Given the description of an element on the screen output the (x, y) to click on. 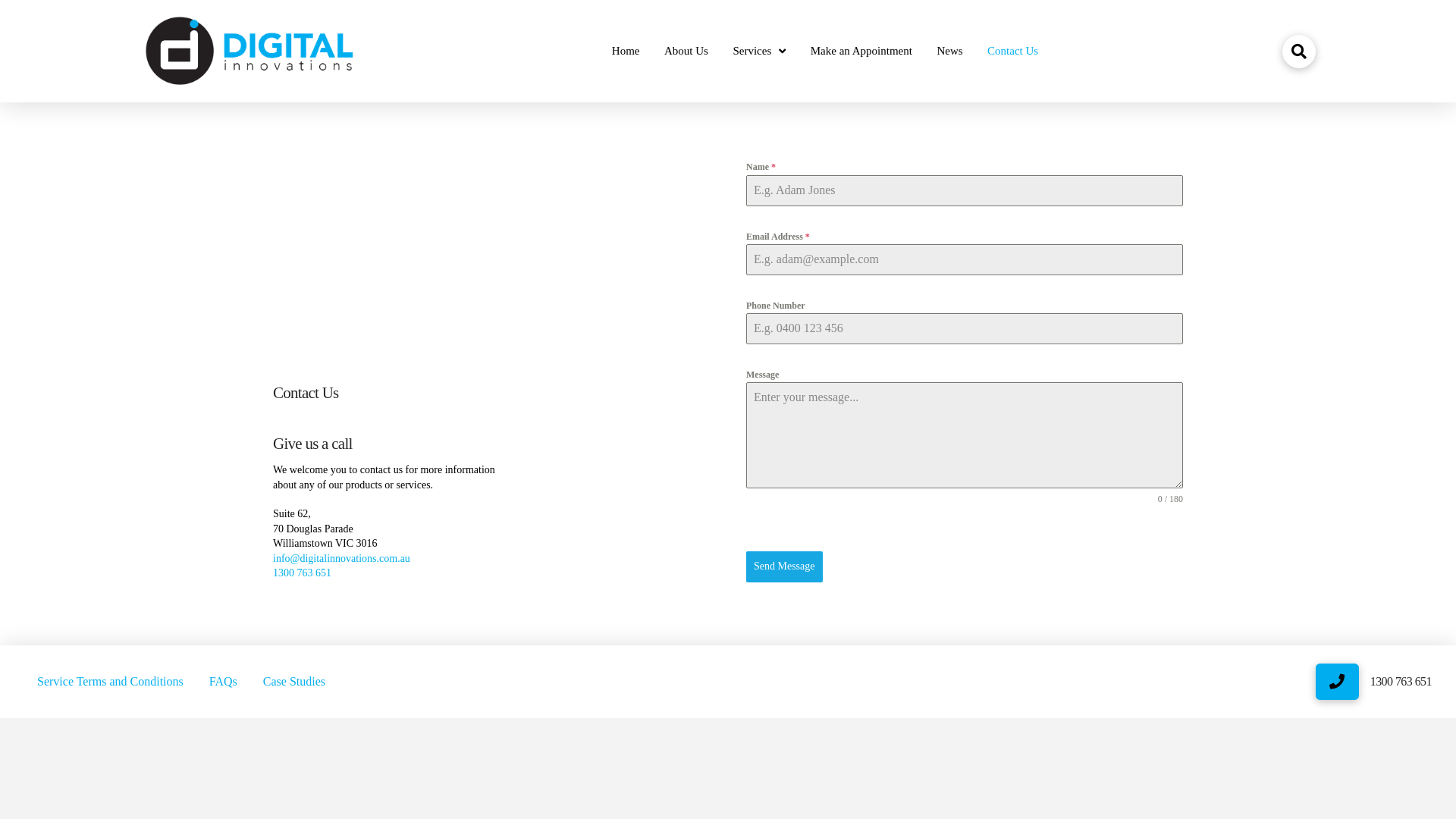
News Element type: text (949, 51)
Service Terms and Conditions Element type: text (110, 681)
info@digitalinnovations.com.au Element type: text (341, 558)
Case Studies Element type: text (294, 681)
Make an Appointment Element type: text (860, 51)
Services Element type: text (758, 51)
Home Element type: text (625, 51)
1300 763 651 Element type: text (302, 572)
Send Message Element type: text (784, 566)
About Us Element type: text (686, 51)
1300 763 651 Element type: text (1400, 680)
FAQs Element type: text (223, 681)
Contact Us Element type: text (1013, 51)
